Given the description of an element on the screen output the (x, y) to click on. 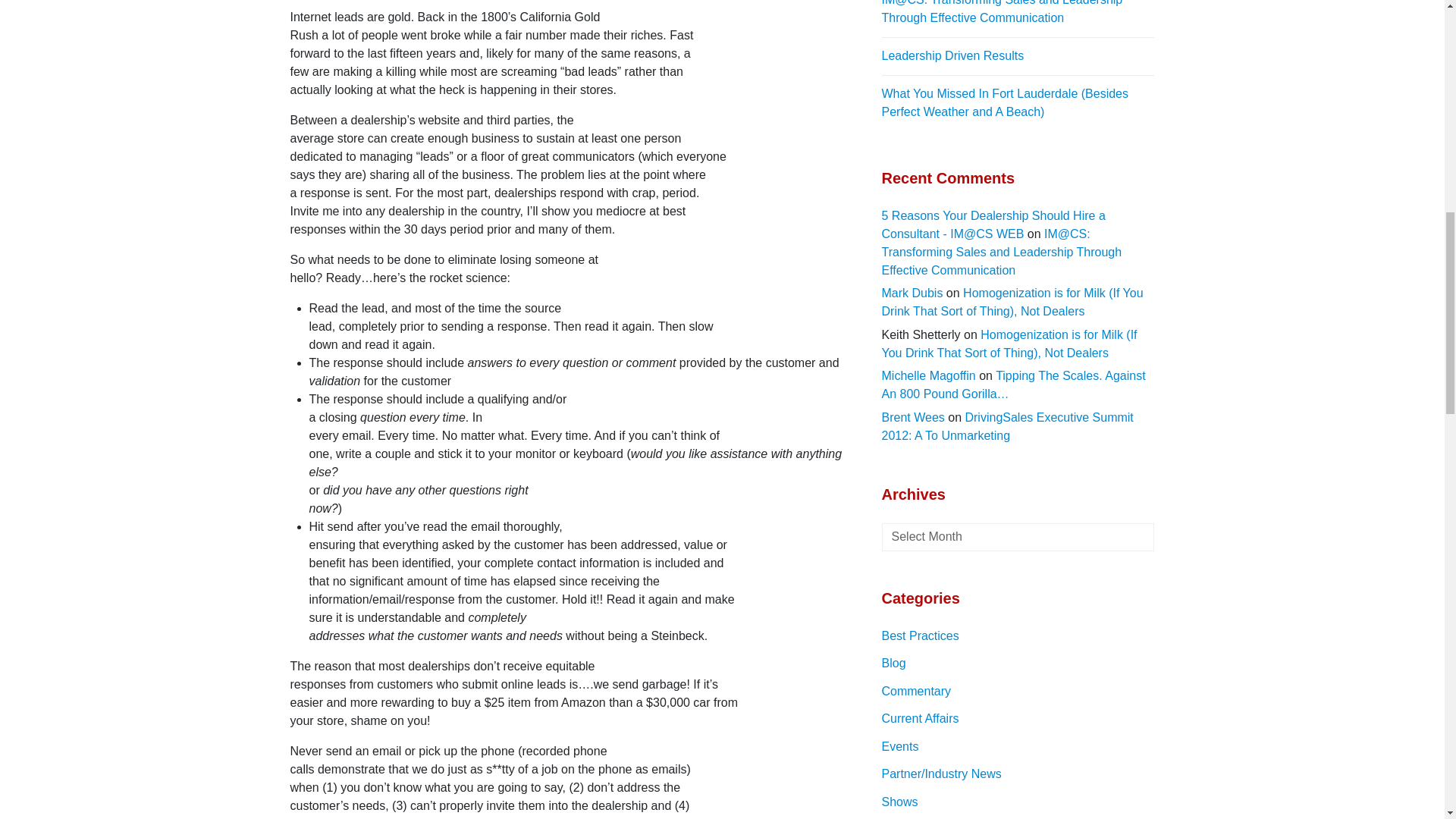
Leadership Driven Results (1017, 55)
